Given the description of an element on the screen output the (x, y) to click on. 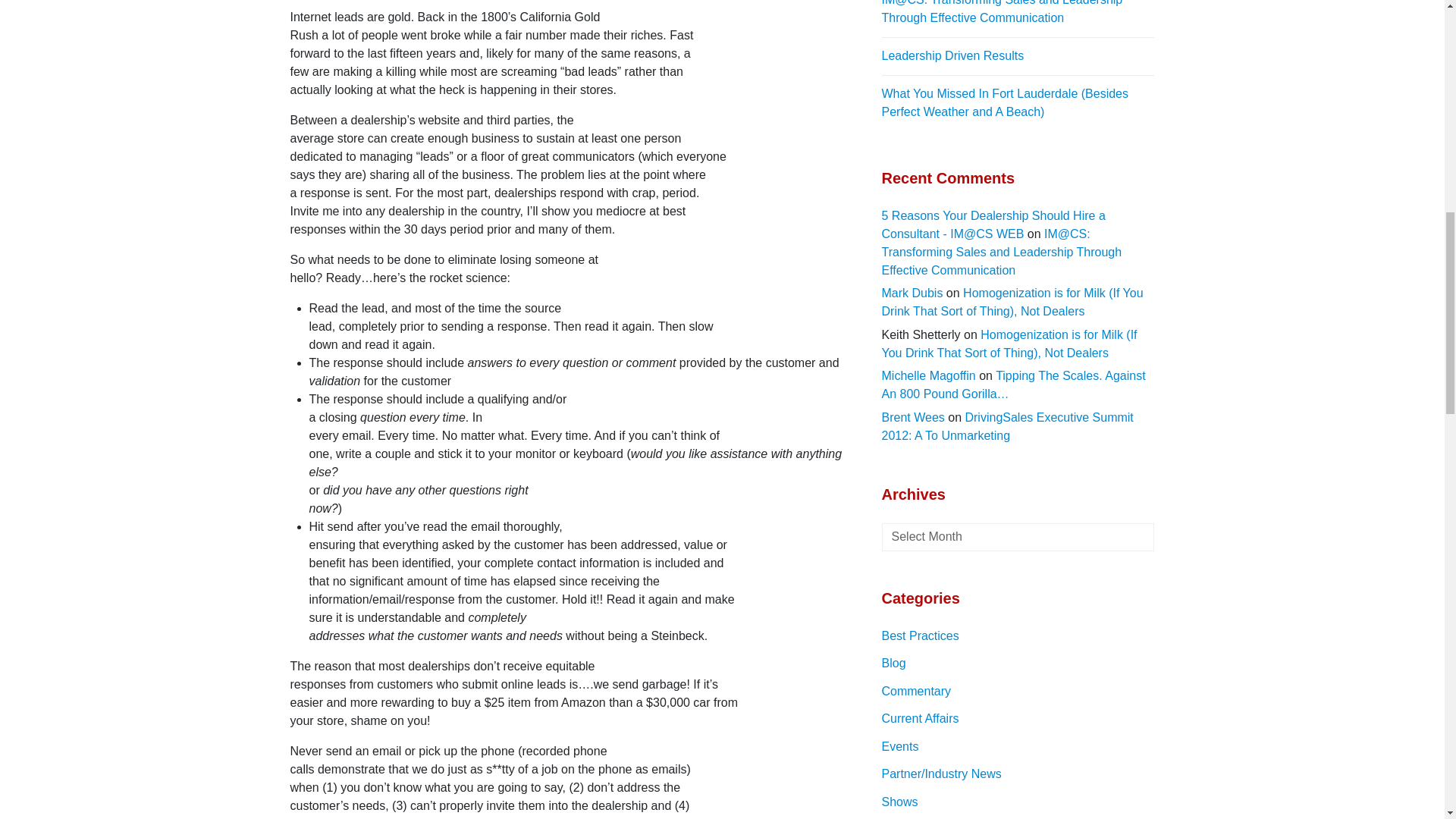
Leadership Driven Results (1017, 55)
